Given the description of an element on the screen output the (x, y) to click on. 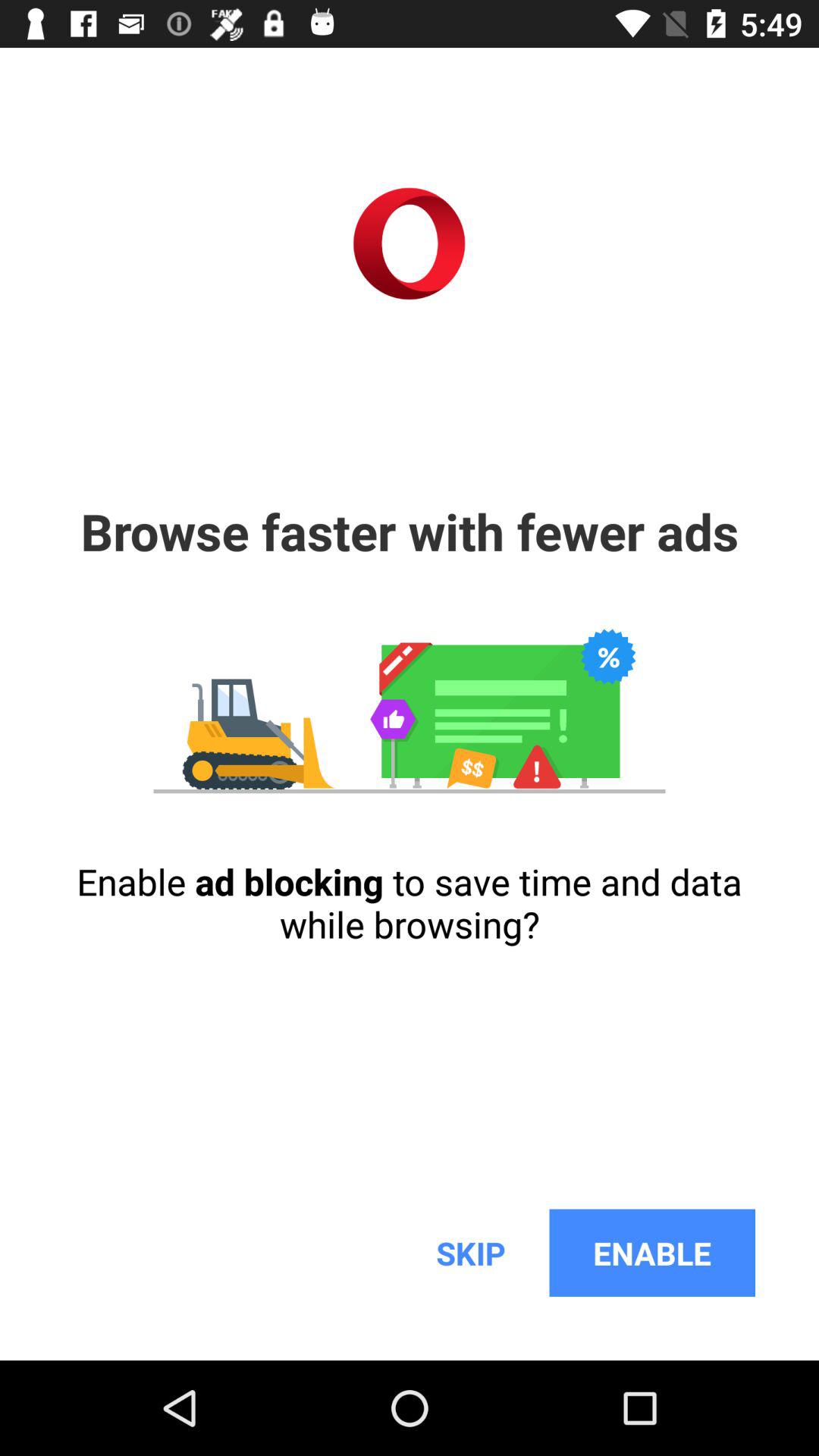
launch item next to the enable icon (470, 1252)
